Given the description of an element on the screen output the (x, y) to click on. 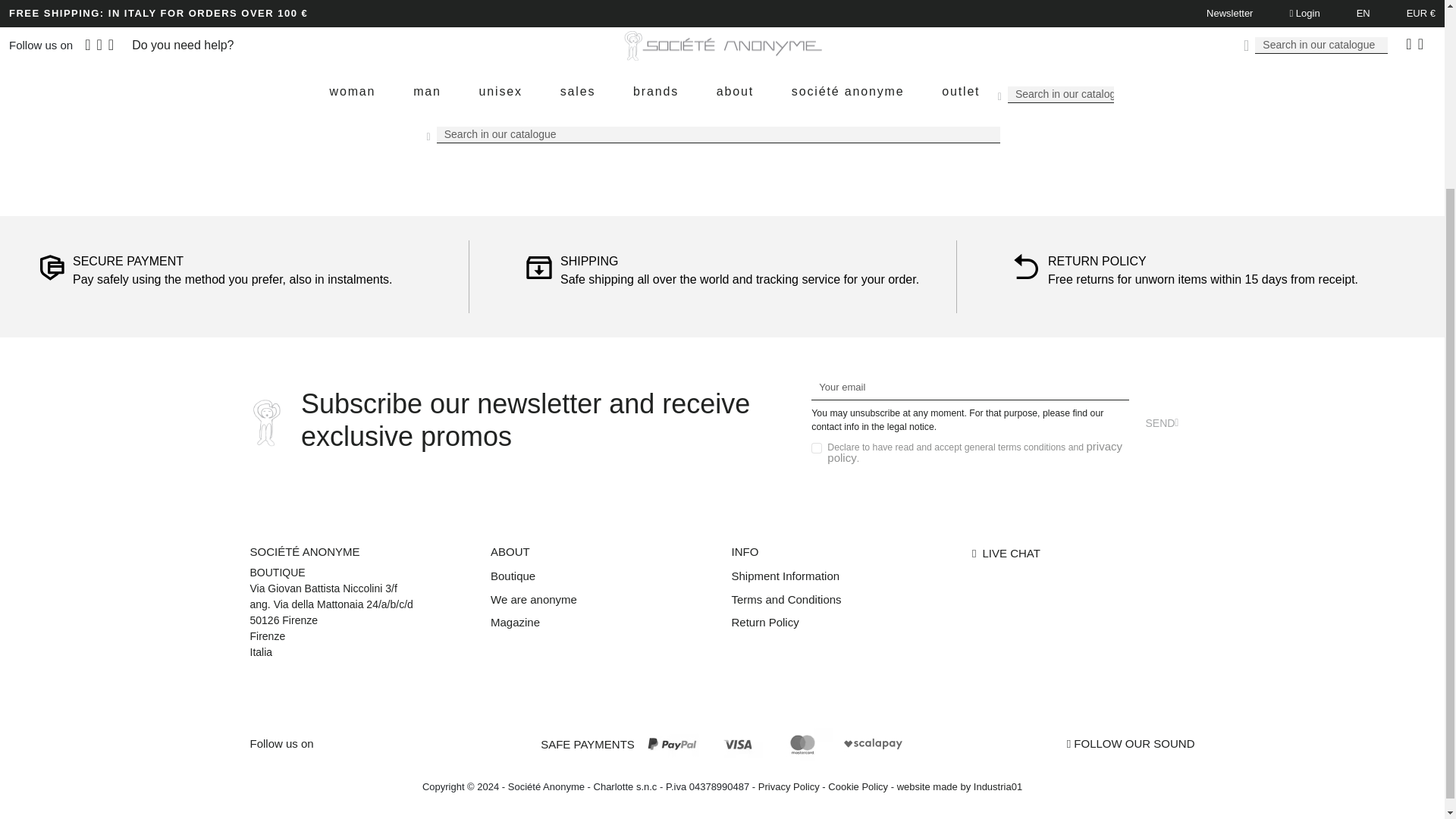
1 (816, 448)
